Given the description of an element on the screen output the (x, y) to click on. 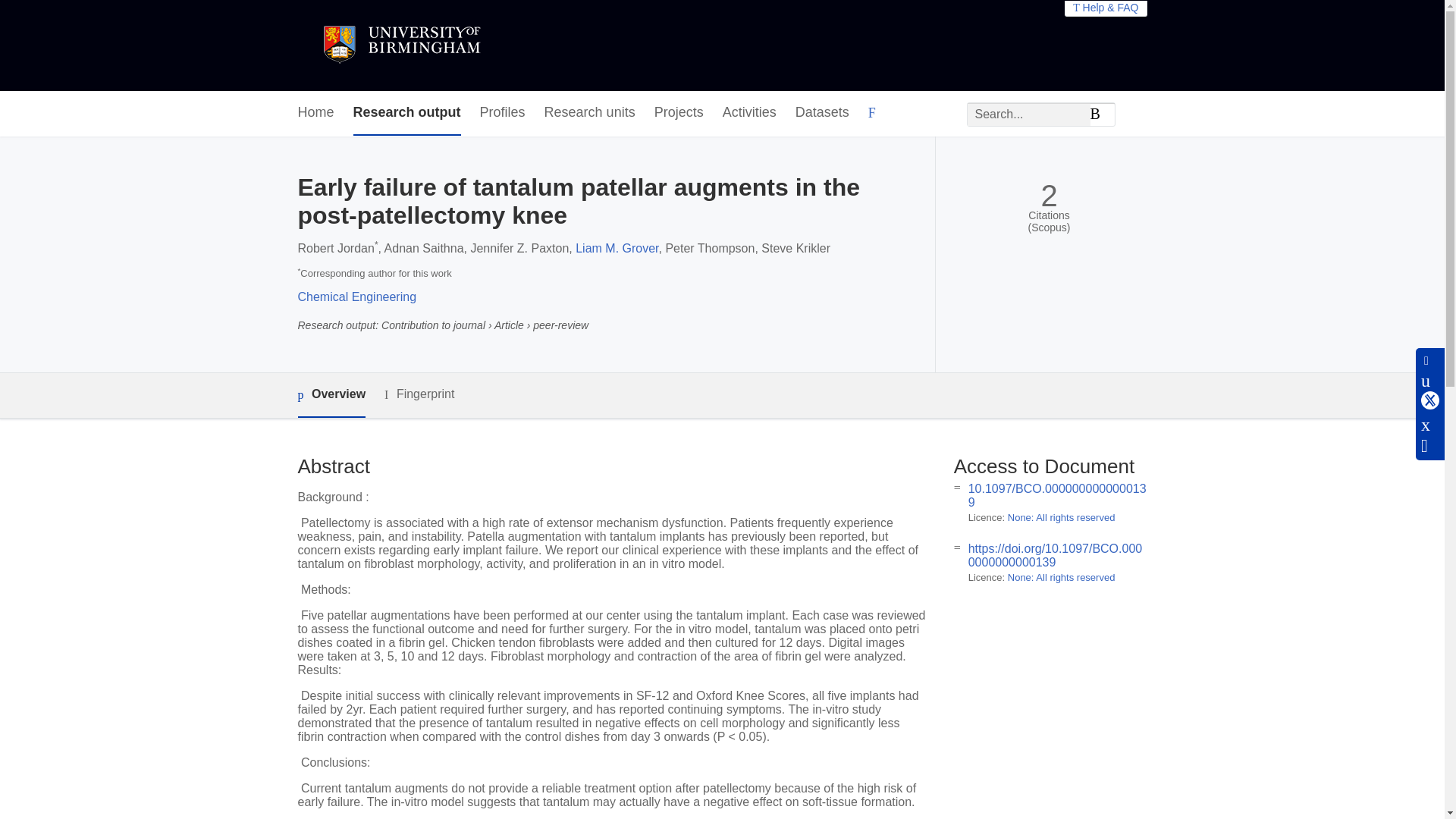
None: All rights reserved (1061, 577)
None: All rights reserved (1061, 517)
Datasets (821, 112)
Chemical Engineering (356, 296)
Projects (678, 112)
Profiles (502, 112)
Fingerprint (419, 394)
Research units (589, 112)
Liam M. Grover (616, 247)
